Given the description of an element on the screen output the (x, y) to click on. 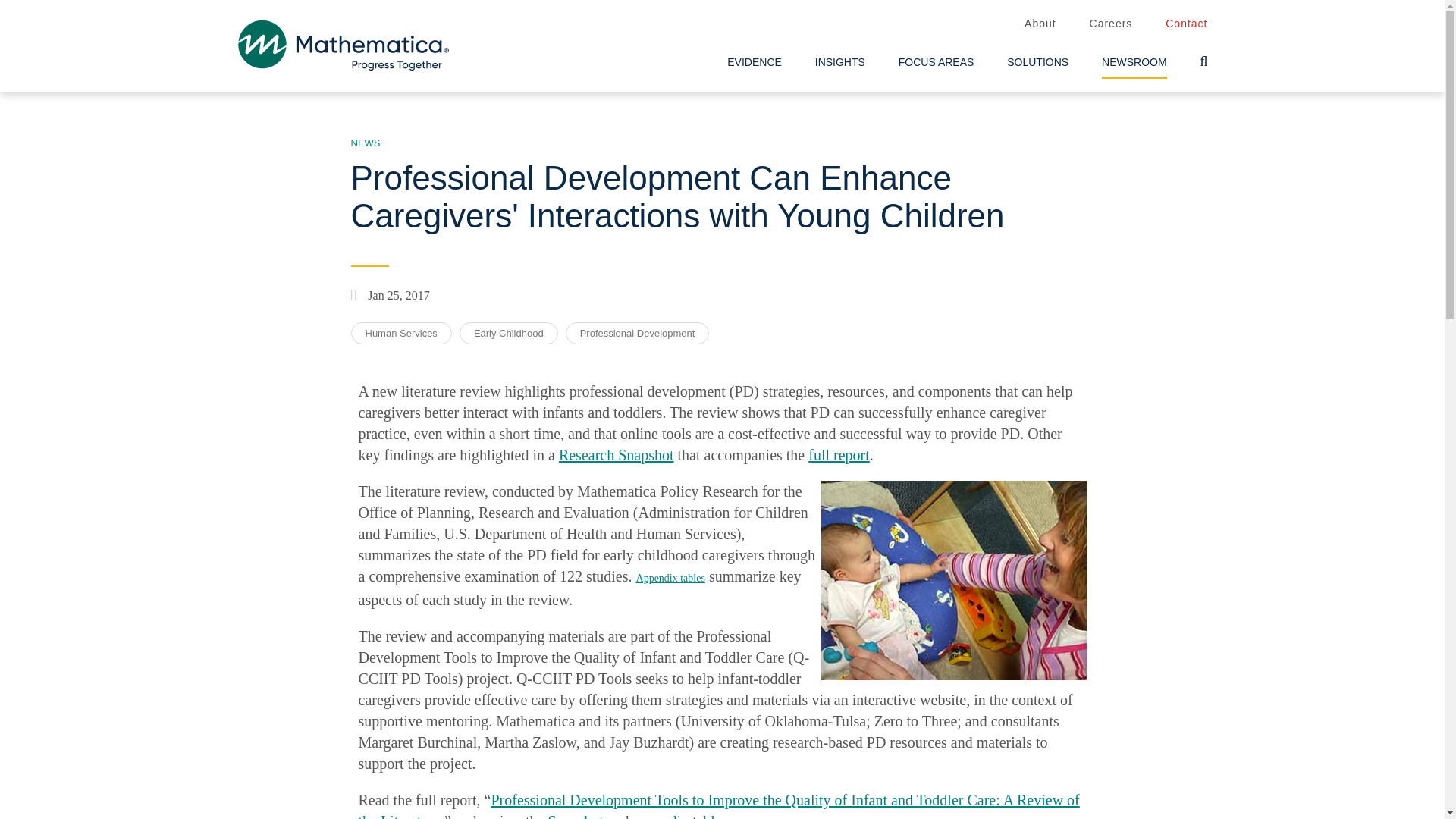
Careers (1110, 23)
FOCUS AREAS (936, 62)
Contact (1186, 23)
SOLUTIONS (1037, 62)
EVIDENCE (753, 62)
About (1041, 23)
INSIGHTS (839, 62)
NEWSROOM (1134, 62)
